Given the description of an element on the screen output the (x, y) to click on. 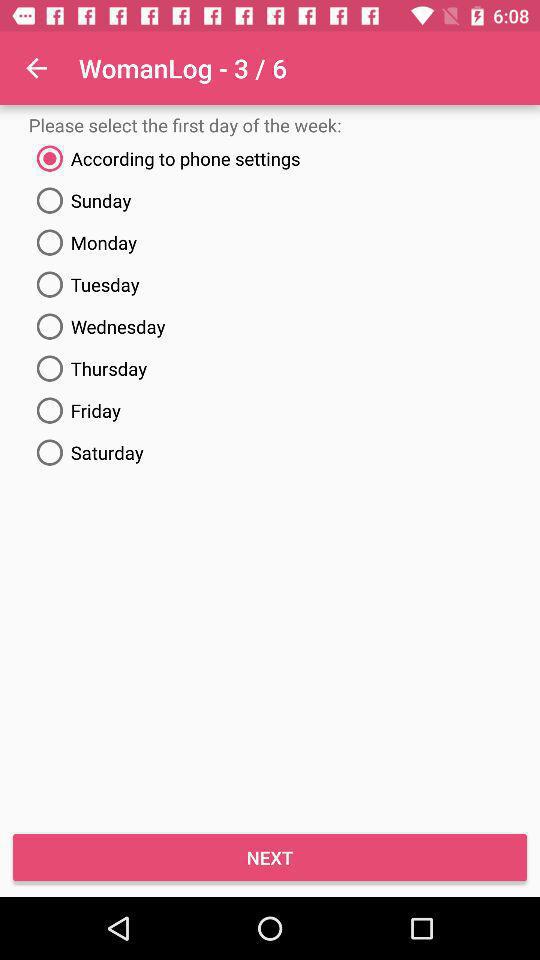
open the item below the tuesday icon (269, 326)
